Given the description of an element on the screen output the (x, y) to click on. 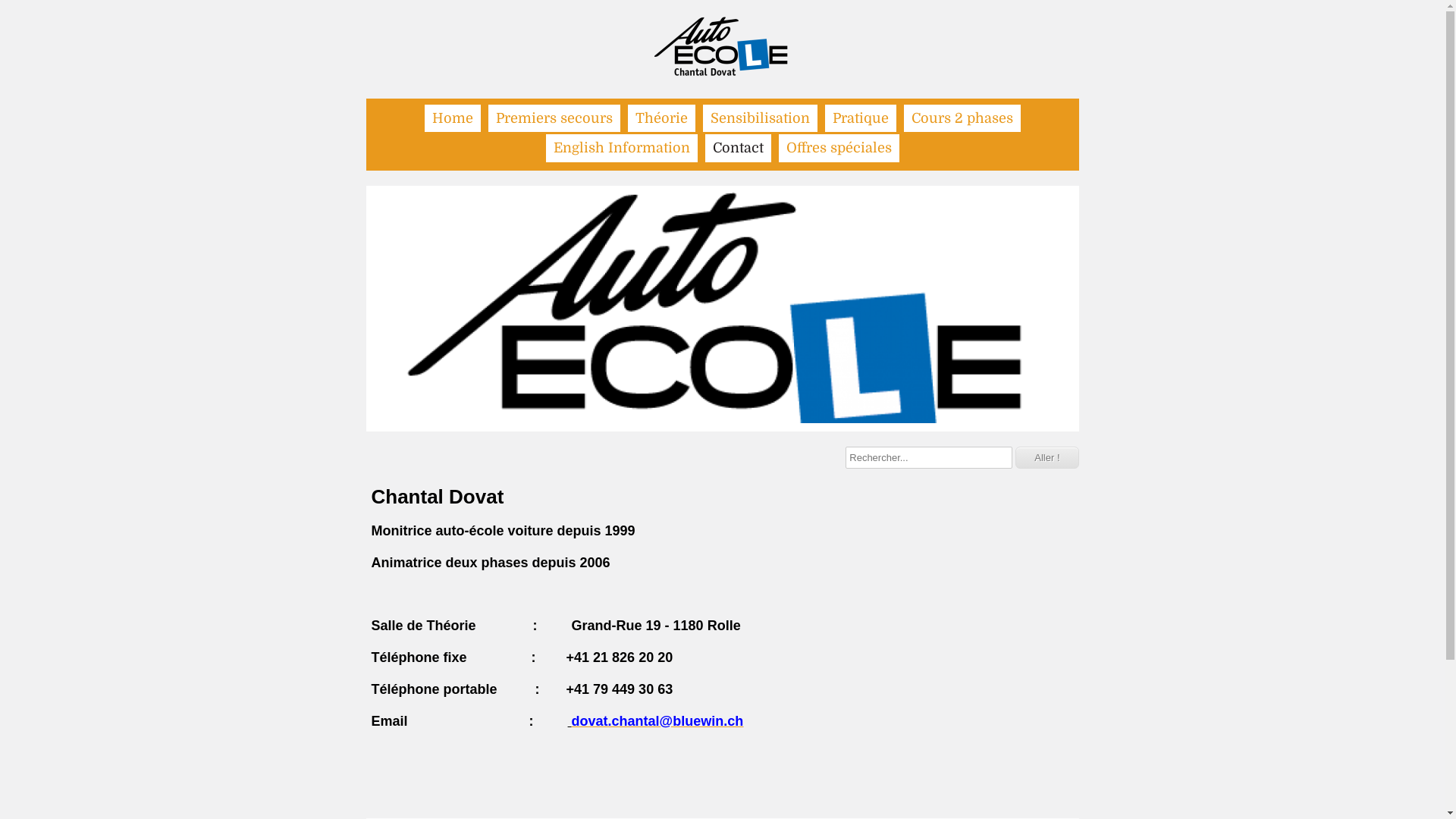
Pratique Element type: text (860, 117)
dovat.chantal@bluewin.ch Element type: text (657, 720)
Contact Element type: text (738, 147)
Cours 2 phases Element type: text (961, 117)
Sensibilisation Element type: text (759, 117)
English Information Element type: text (621, 147)
Premiers secours Element type: text (554, 117)
Home Element type: text (452, 117)
